Given the description of an element on the screen output the (x, y) to click on. 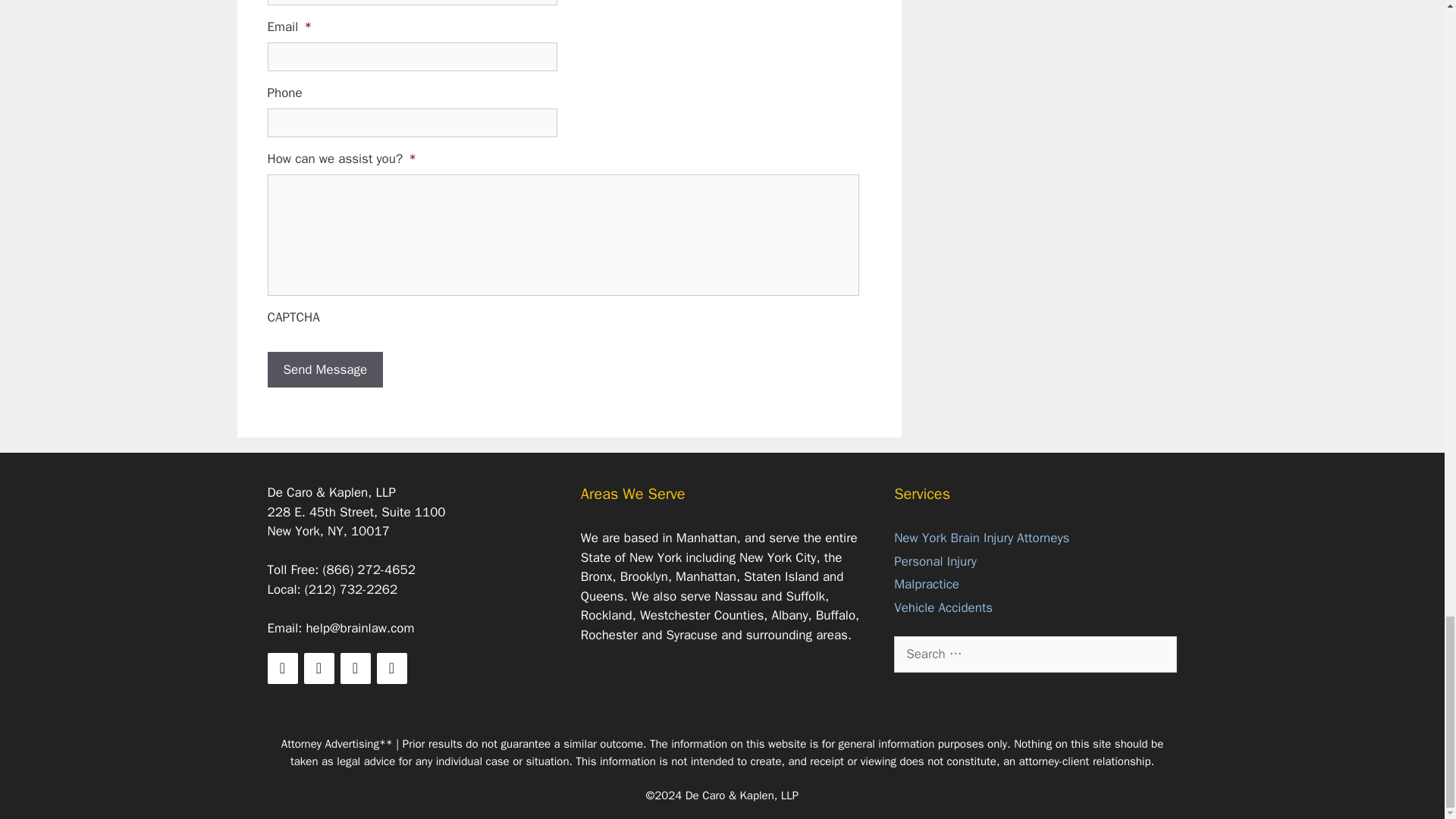
YouTube (390, 667)
Facebook (281, 667)
Search for: (1034, 654)
Send Message (324, 370)
LinkedIn (354, 667)
Twitter (317, 667)
